Given the description of an element on the screen output the (x, y) to click on. 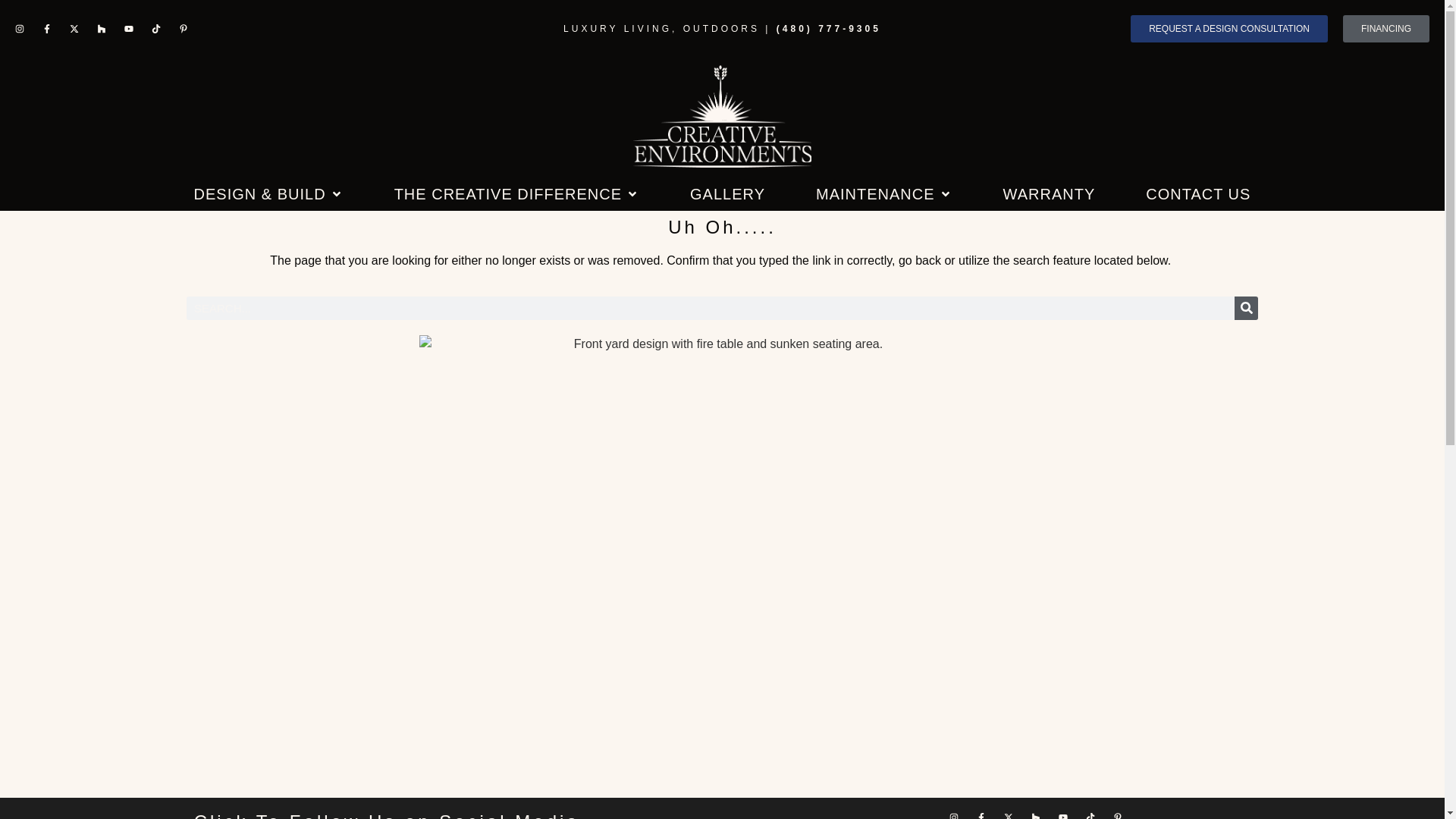
FINANCING (1385, 28)
REQUEST A DESIGN CONSULTATION (1229, 28)
